Given the description of an element on the screen output the (x, y) to click on. 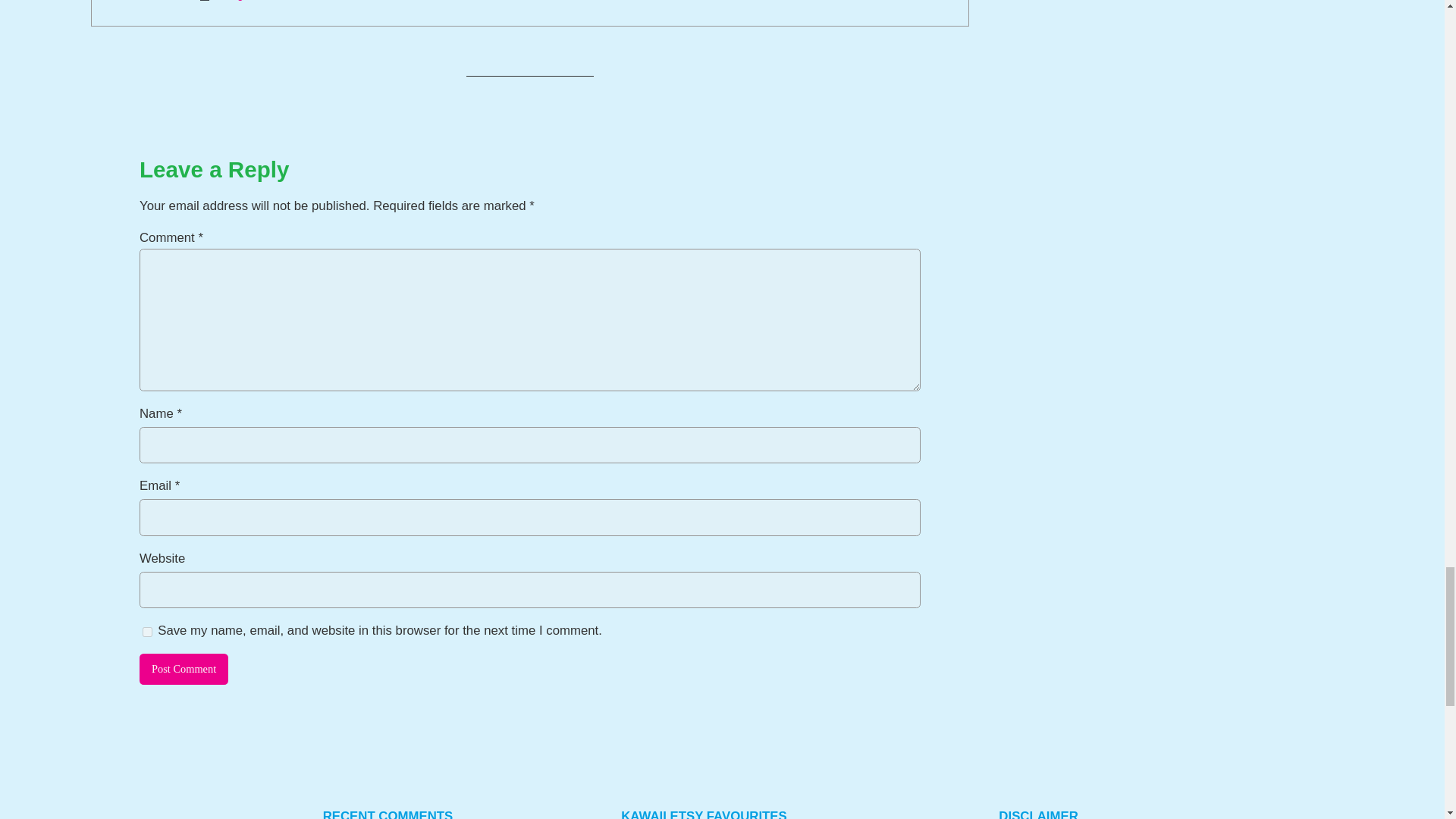
Post Comment (183, 669)
